Given the description of an element on the screen output the (x, y) to click on. 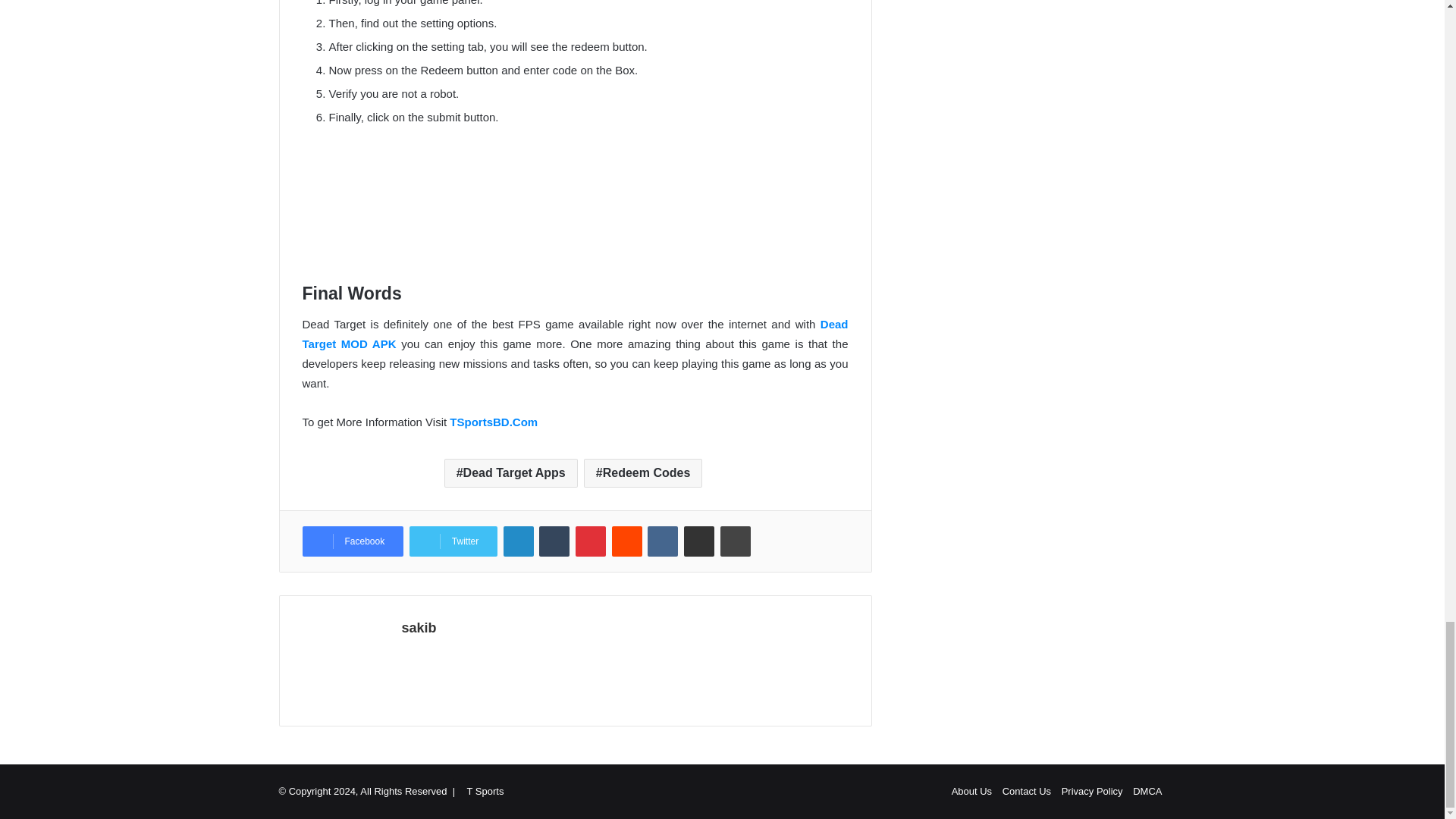
Share via Email (699, 541)
Tumblr (553, 541)
VKontakte (662, 541)
Print (735, 541)
Pinterest (590, 541)
Twitter (453, 541)
LinkedIn (518, 541)
Reddit (626, 541)
Facebook (352, 541)
